Given the description of an element on the screen output the (x, y) to click on. 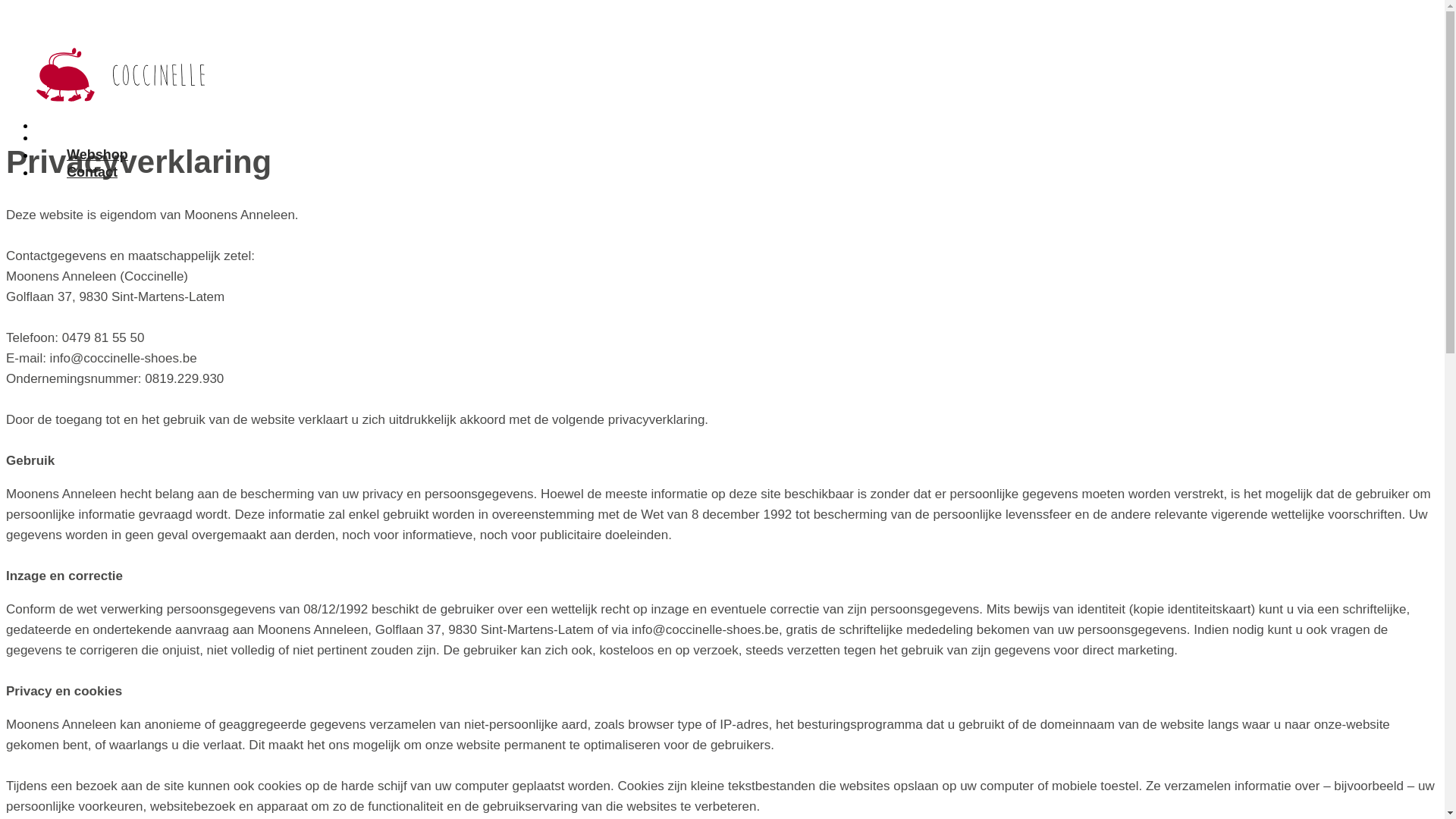
Contact Element type: text (120, 150)
Webshop Element type: text (120, 132)
